Given the description of an element on the screen output the (x, y) to click on. 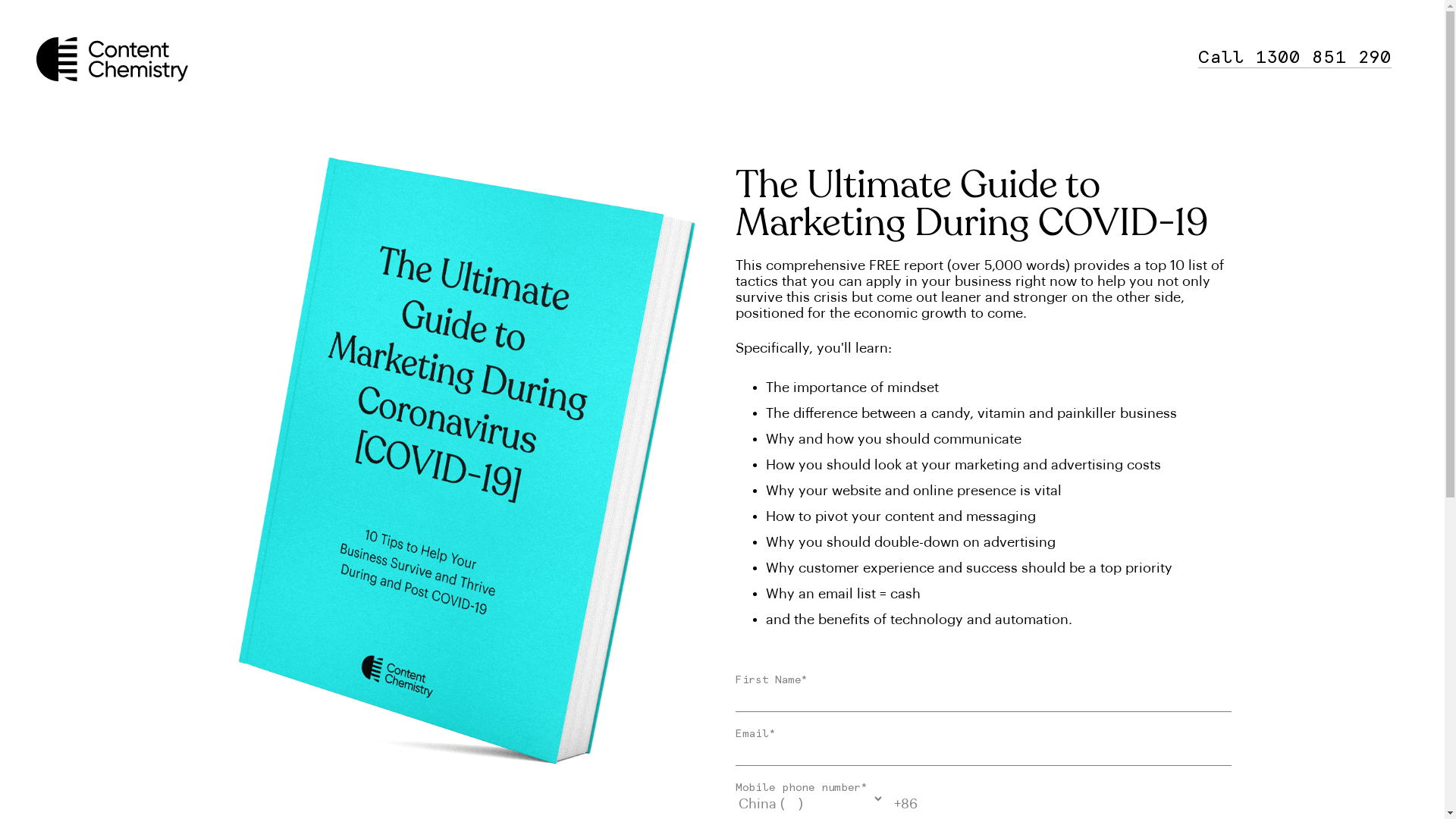
Call 1300 851 290 Element type: text (1294, 56)
